Given the description of an element on the screen output the (x, y) to click on. 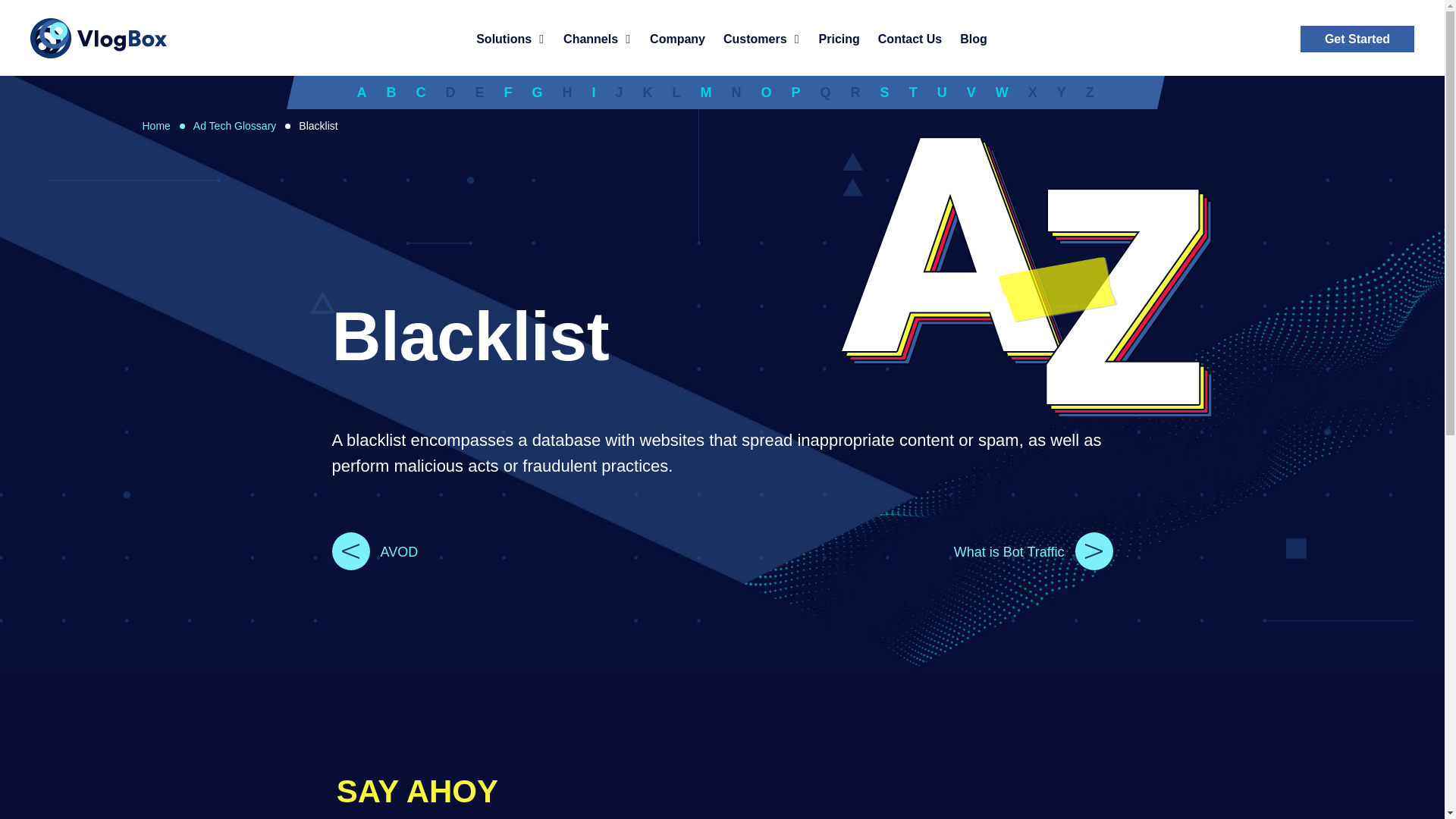
Ad Tech Glossary (234, 125)
Contact Us (909, 38)
Get Started (1356, 38)
Home (156, 125)
Channels (596, 38)
What is Bot Traffic (917, 546)
Solutions (509, 38)
AVOD (526, 546)
Customers (762, 38)
